Given the description of an element on the screen output the (x, y) to click on. 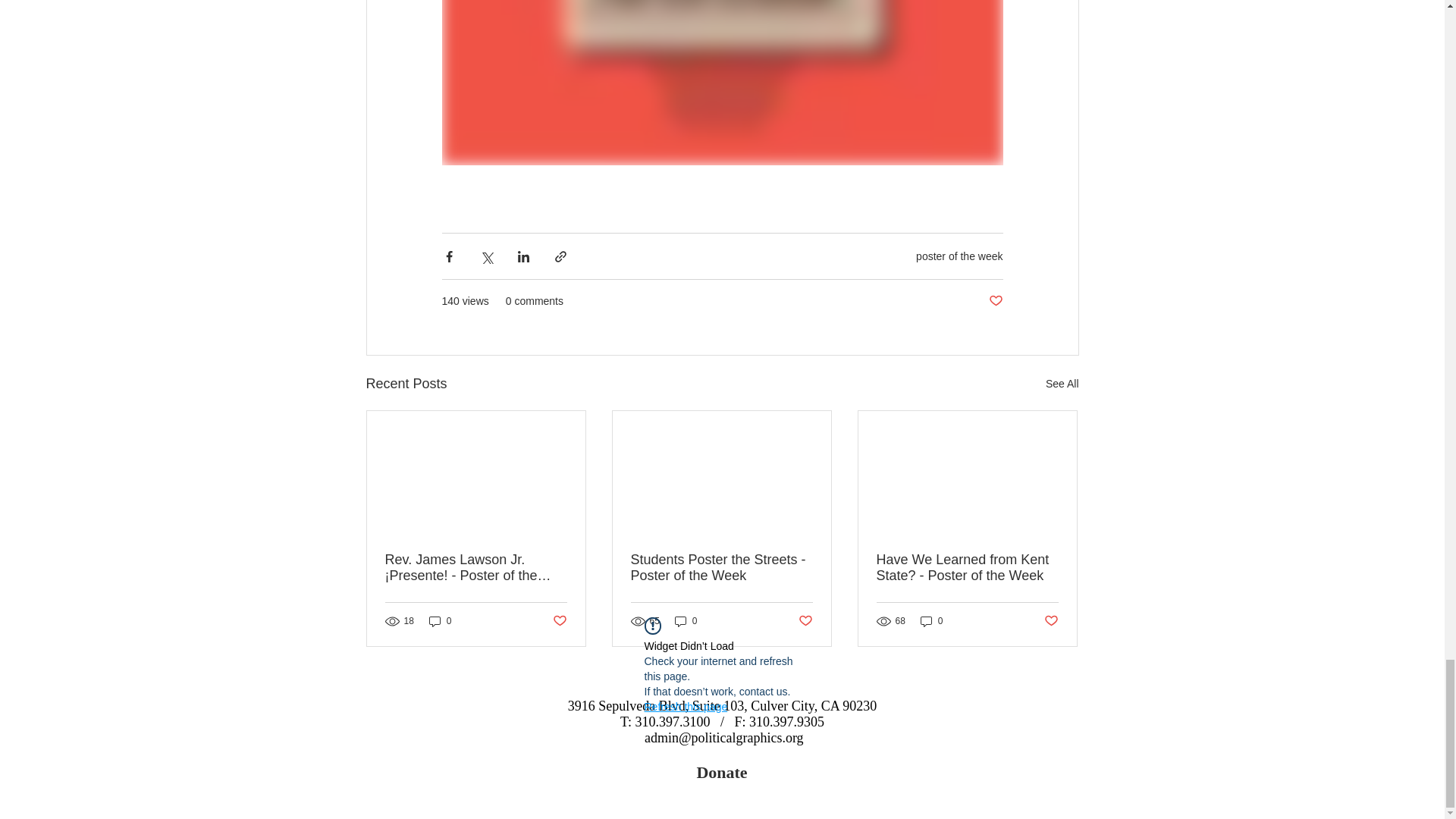
Post not marked as liked (995, 301)
poster of the week (959, 256)
See All (1061, 383)
